Given the description of an element on the screen output the (x, y) to click on. 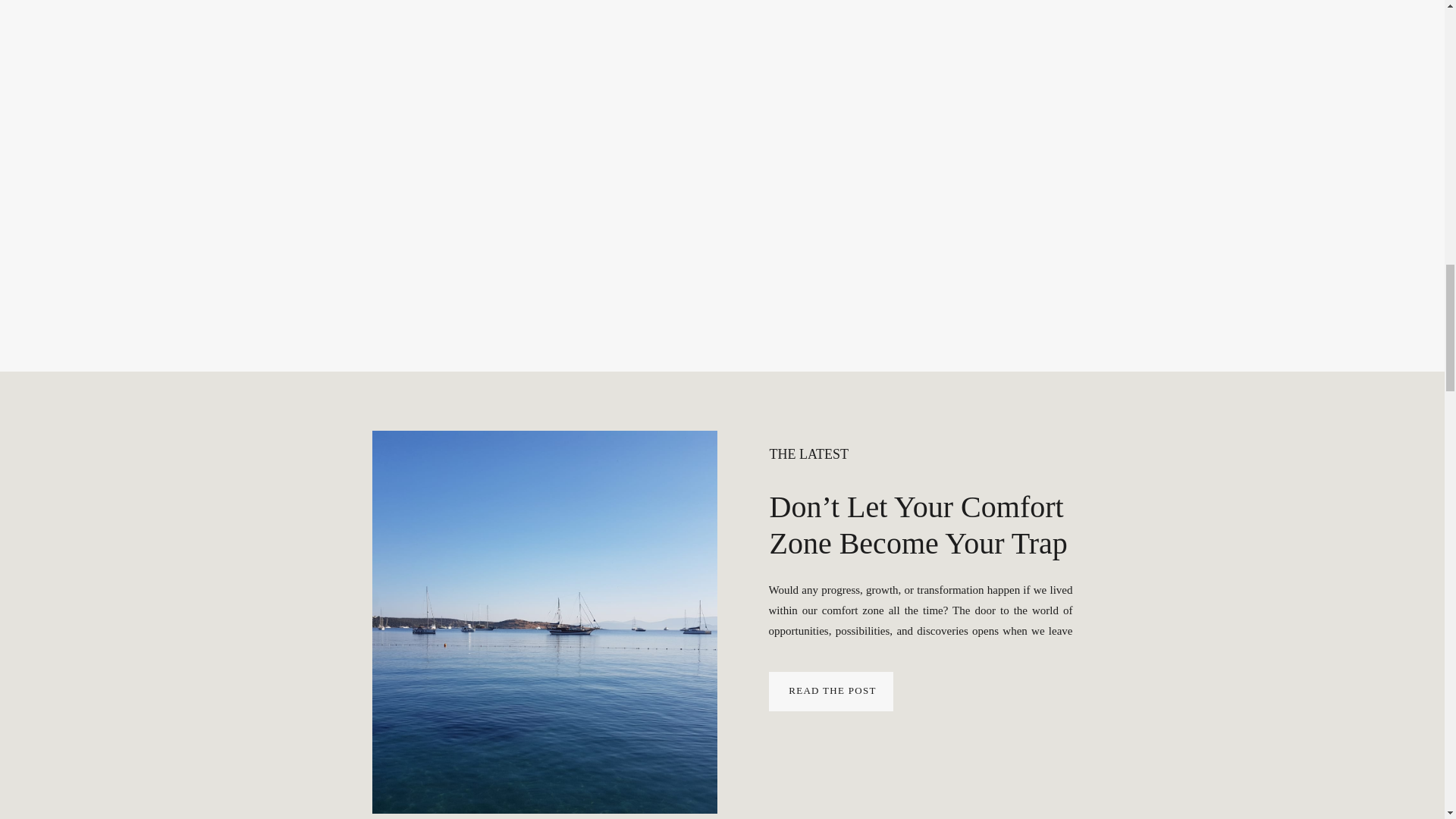
READ THE POST (831, 690)
